Given the description of an element on the screen output the (x, y) to click on. 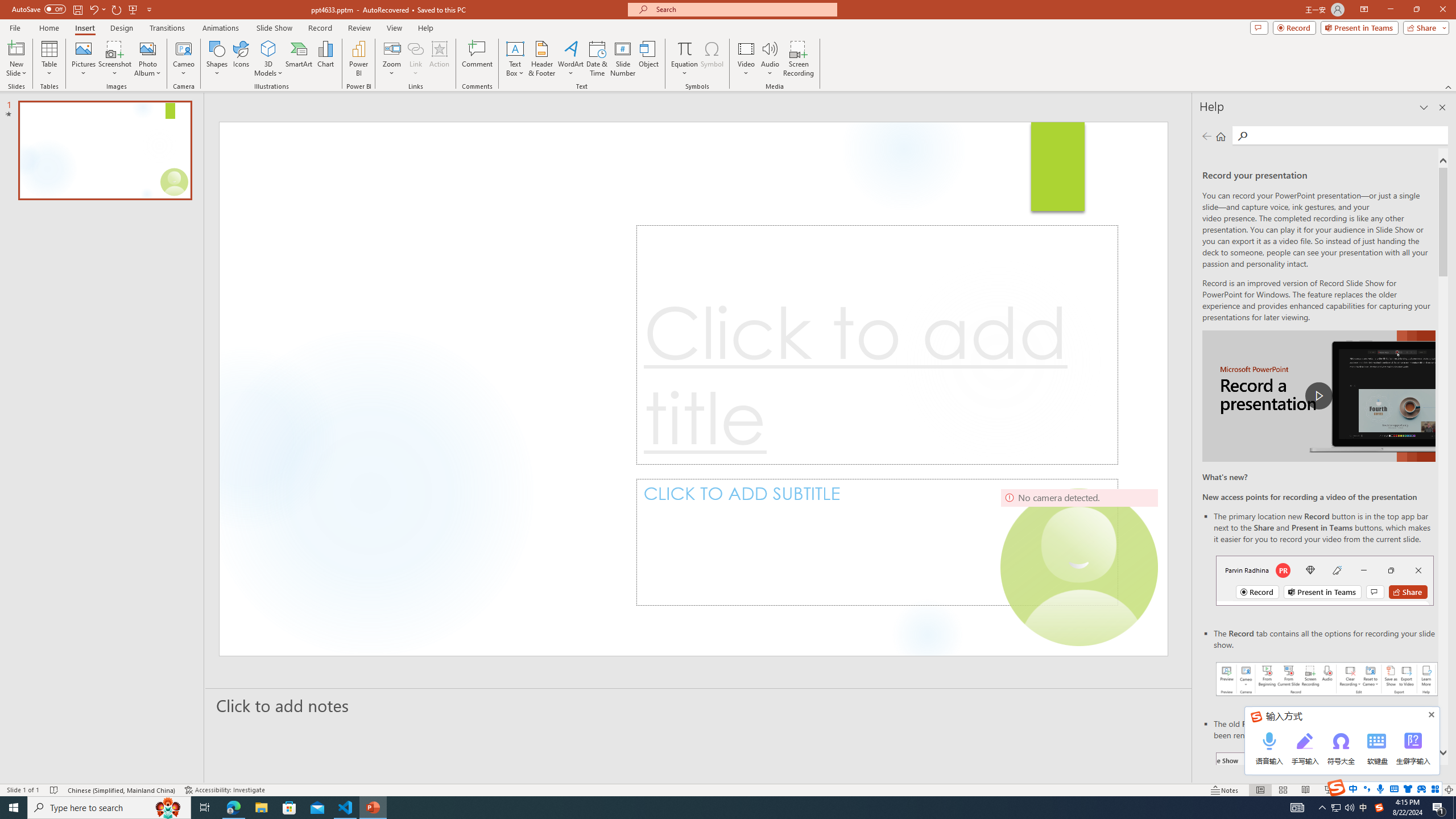
Equation (683, 58)
Record your presentations screenshot one (1326, 678)
Audio (769, 58)
Slide Number (622, 58)
Link (415, 48)
SmartArt... (298, 58)
Screen Recording... (798, 58)
